Given the description of an element on the screen output the (x, y) to click on. 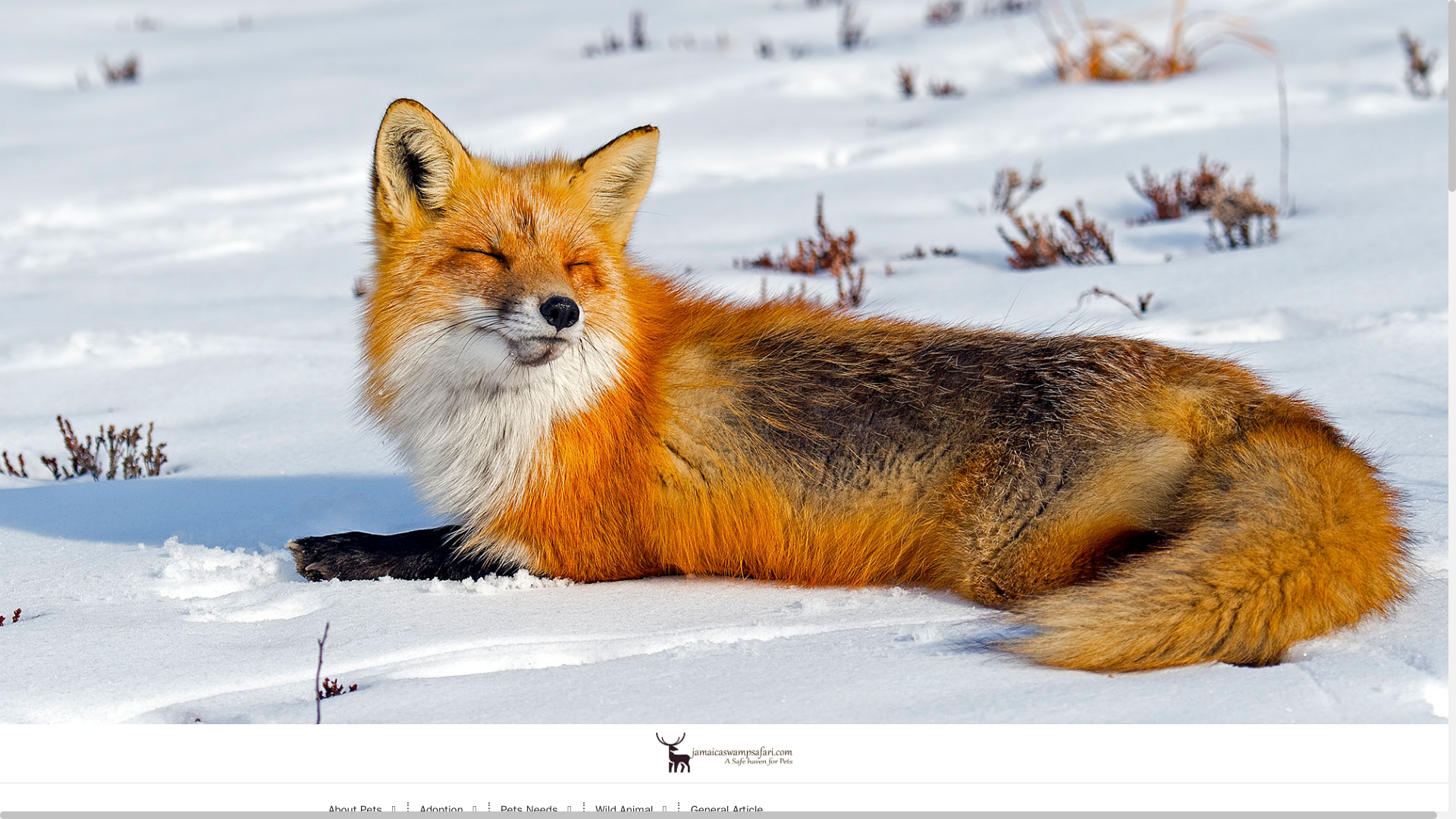
About Pets (362, 800)
